Given the description of an element on the screen output the (x, y) to click on. 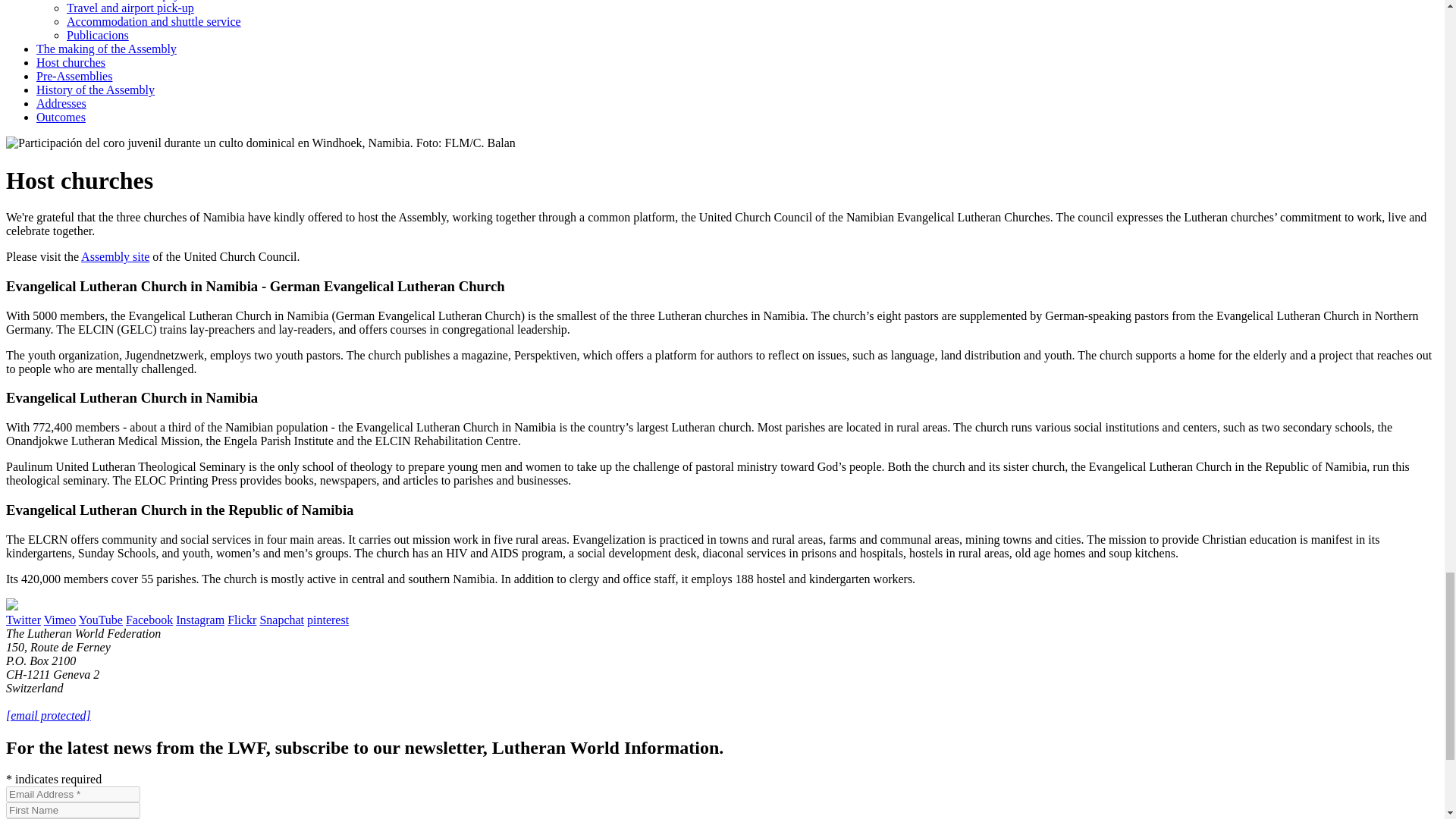
Publications (97, 34)
